Given the description of an element on the screen output the (x, y) to click on. 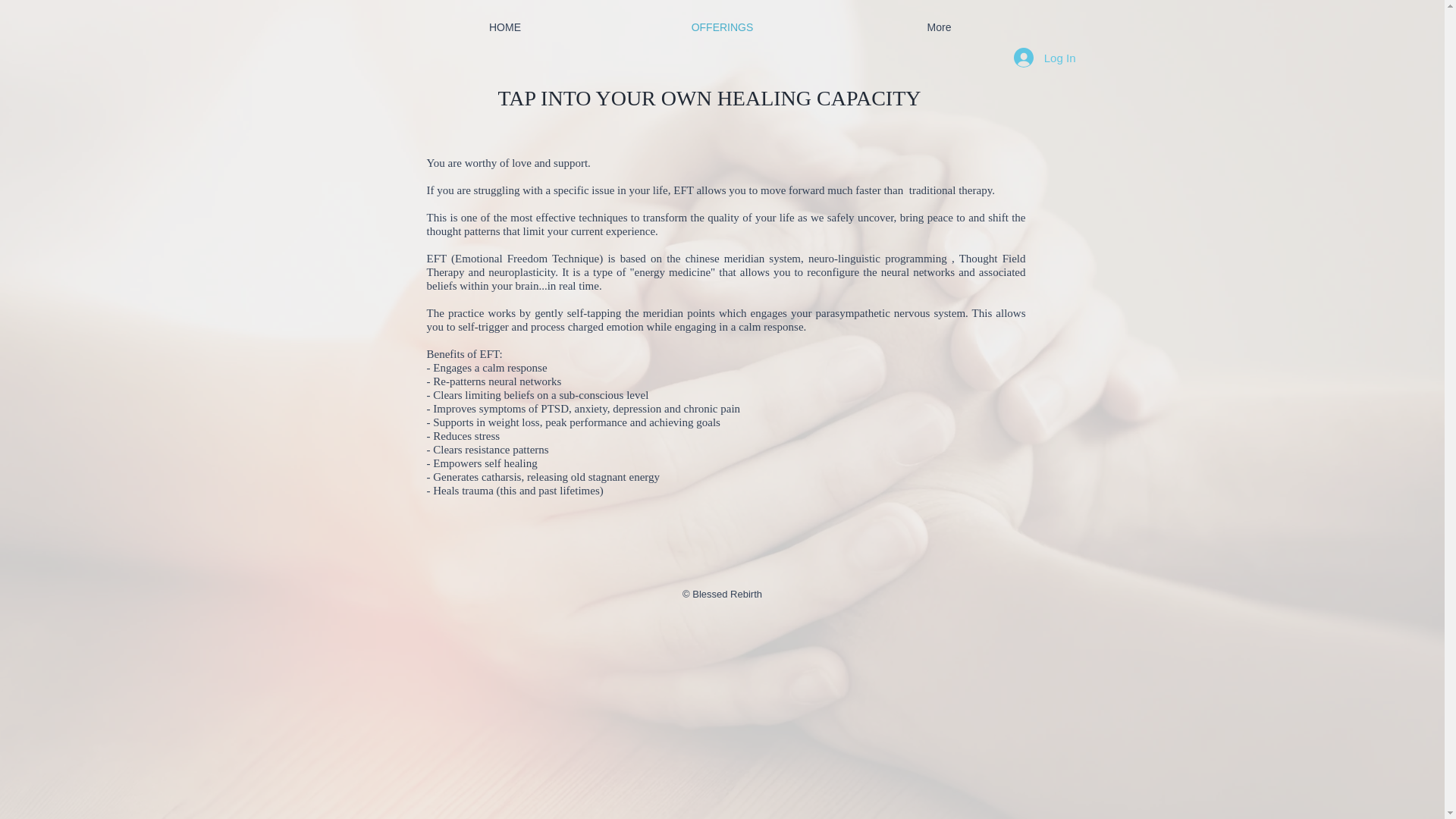
Log In (1044, 57)
HOME (504, 27)
OFFERINGS (722, 27)
